Given the description of an element on the screen output the (x, y) to click on. 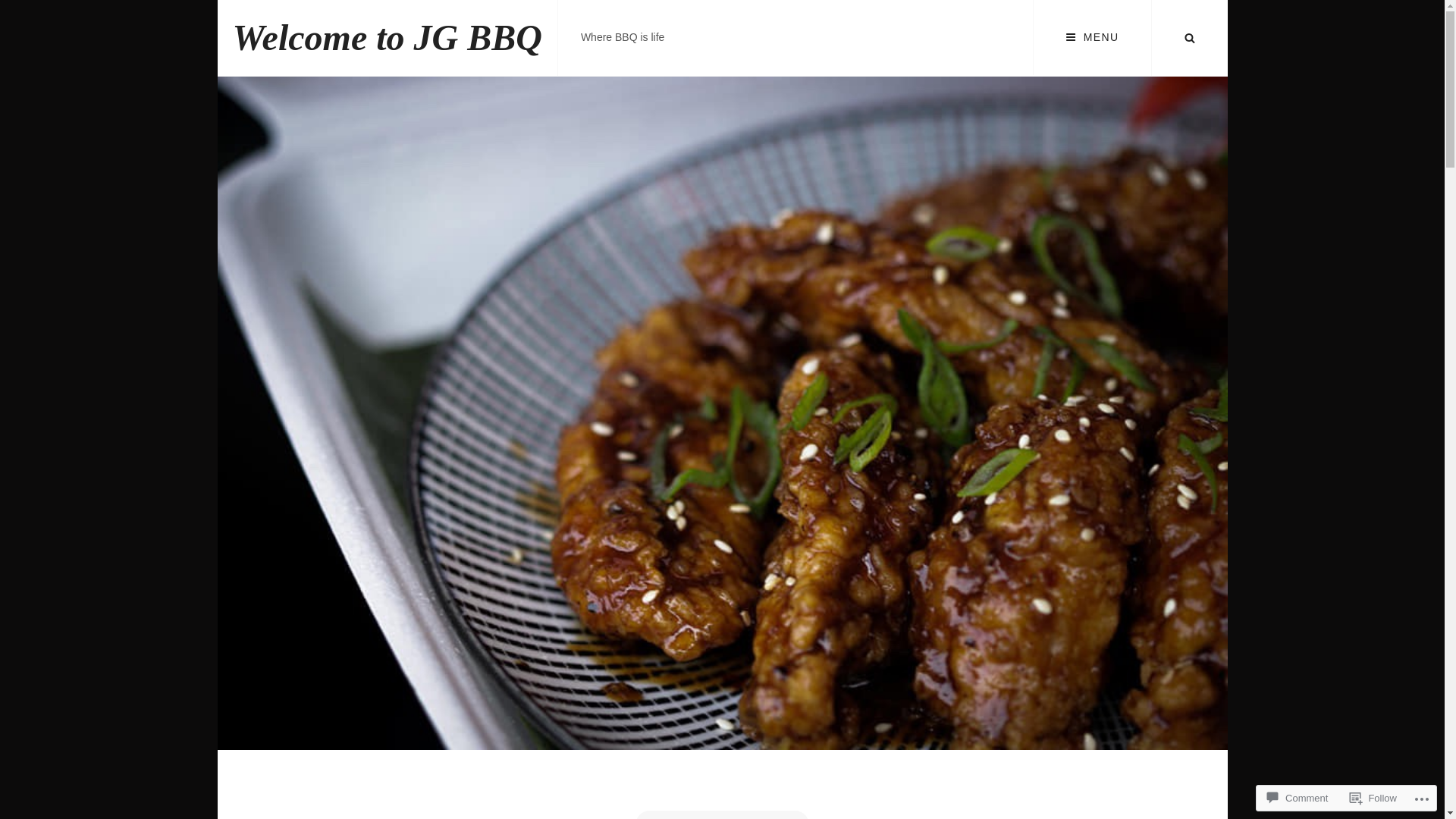
Comment Element type: text (1297, 797)
Follow Element type: text (1372, 797)
MENU Element type: text (1091, 37)
Welcome to JG BBQ Element type: text (386, 37)
